Given the description of an element on the screen output the (x, y) to click on. 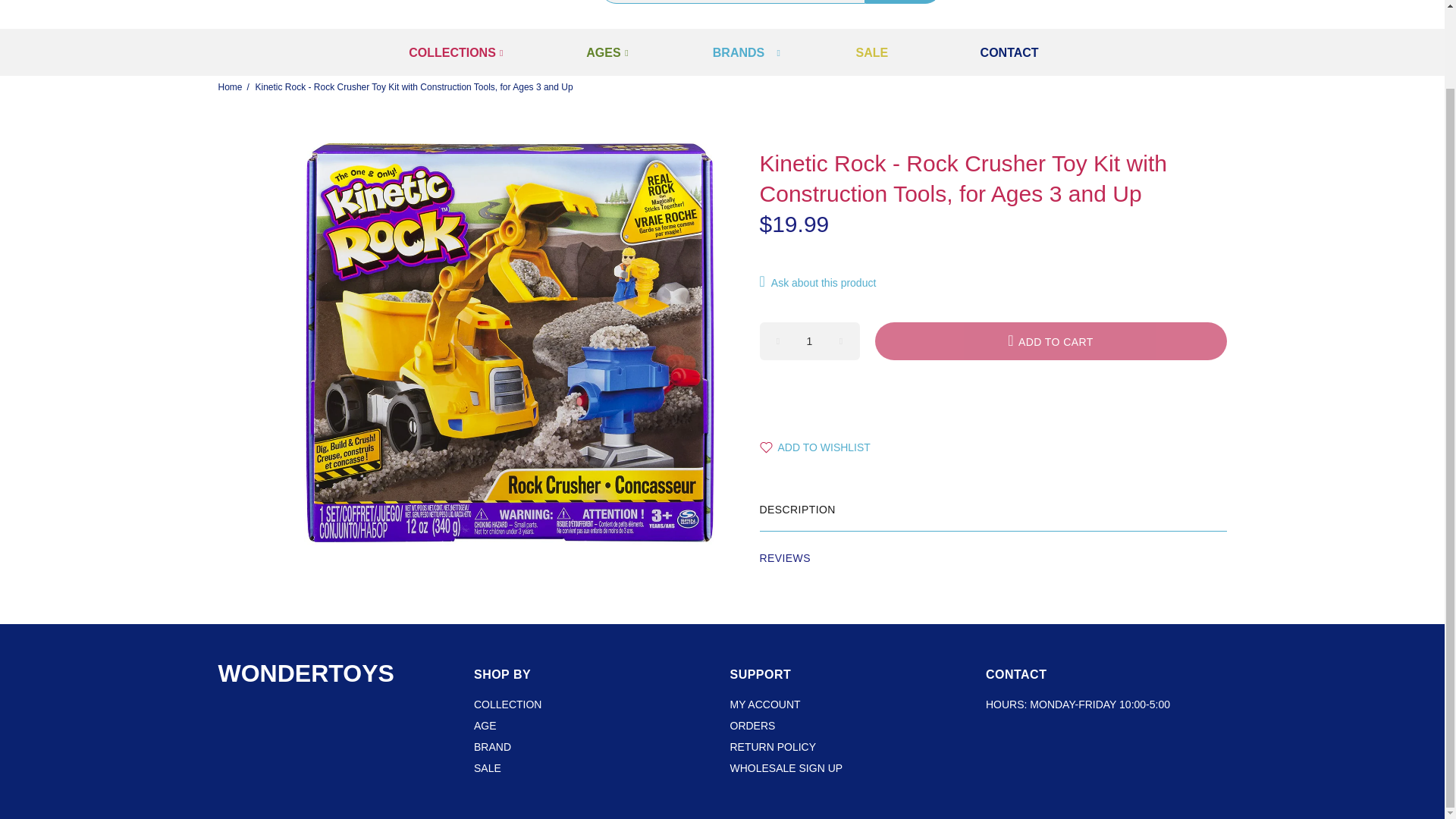
SEARCH (902, 2)
1 (810, 341)
